Given the description of an element on the screen output the (x, y) to click on. 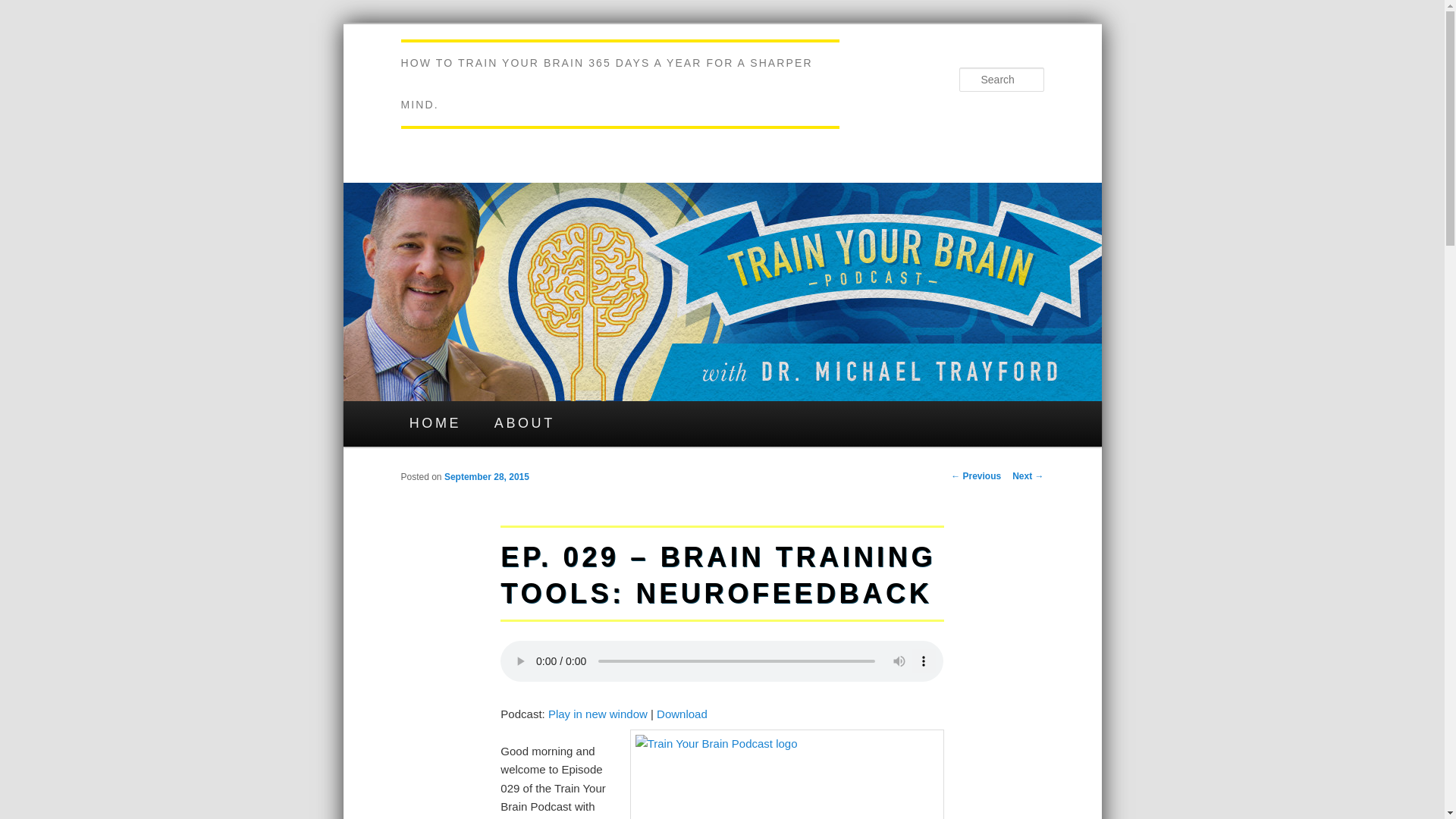
Neurofeedback (786, 774)
ABOUT (524, 423)
September 28, 2015 (486, 476)
Play in new window (597, 713)
12:01 am (486, 476)
Search (24, 8)
Download (681, 713)
Download (681, 713)
HOME (435, 423)
